Given the description of an element on the screen output the (x, y) to click on. 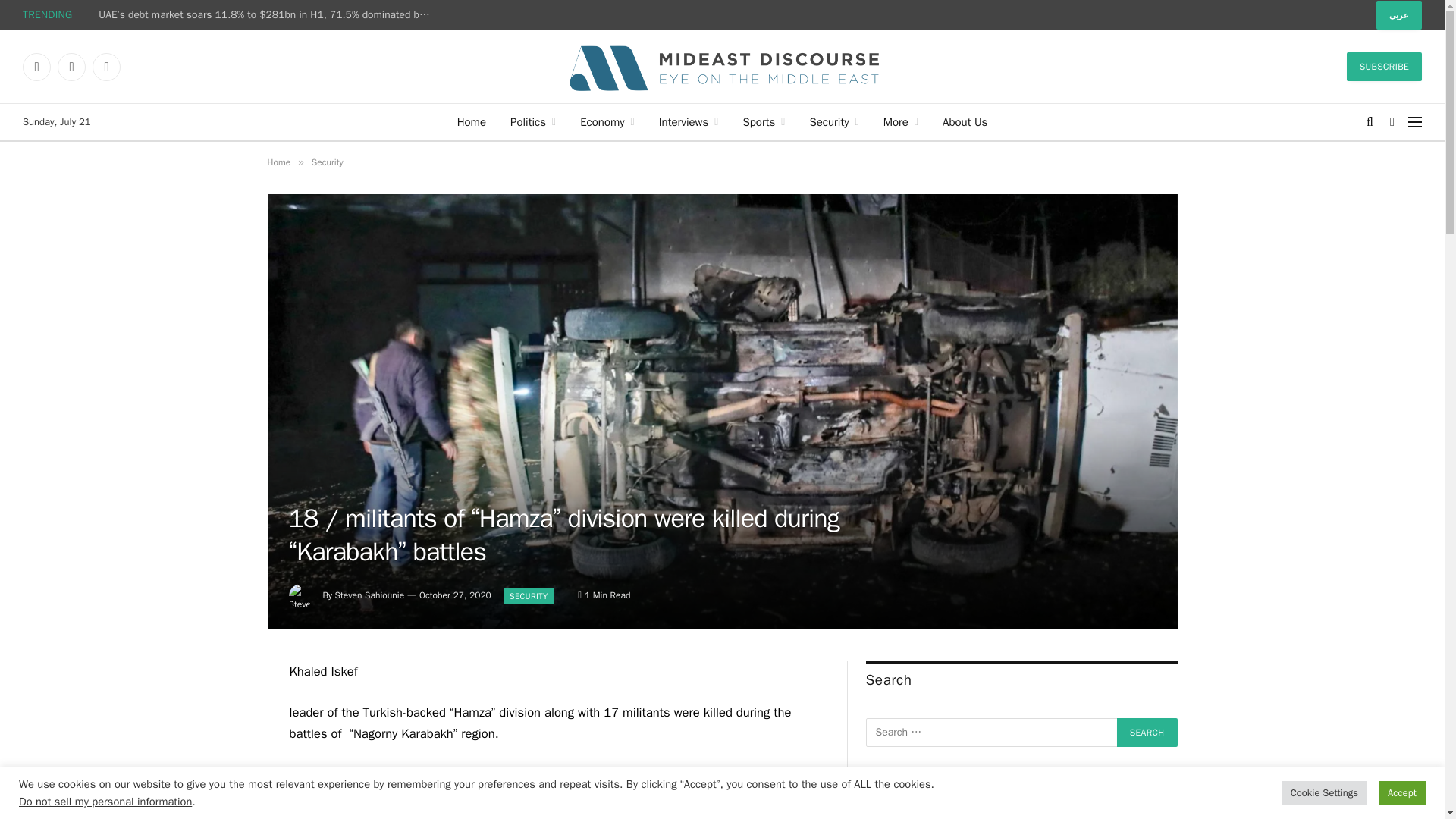
Politics (532, 122)
Home (471, 122)
Search (1146, 732)
Facebook (36, 67)
Economy (606, 122)
Mideast Discourse (722, 66)
SUBSCRIBE (1384, 66)
Instagram (106, 67)
Search (1146, 732)
